Given the description of an element on the screen output the (x, y) to click on. 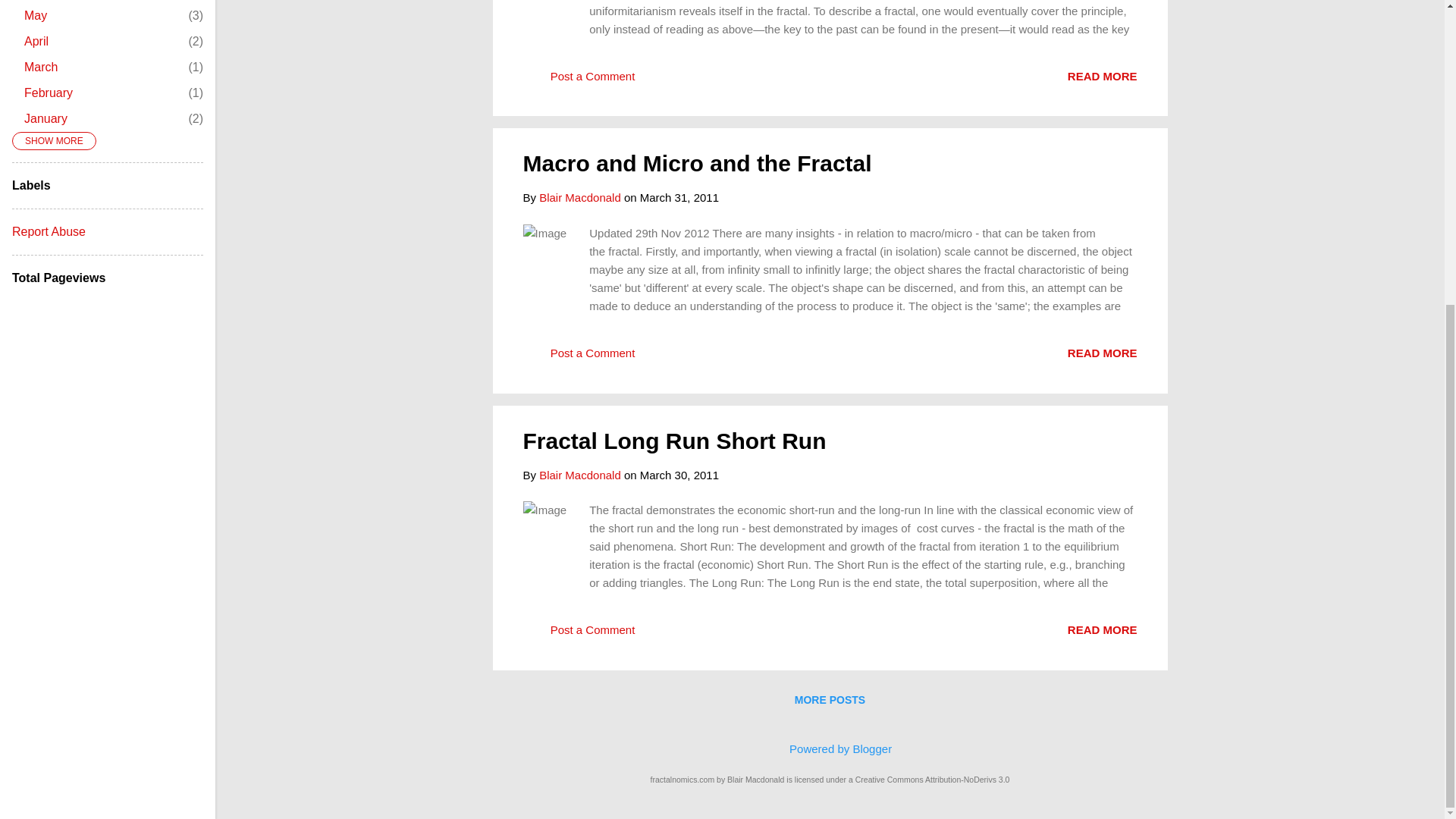
Powered by Blogger (829, 748)
Post a Comment (578, 358)
Blair Macdonald (579, 196)
March 31, 2011 (679, 196)
READ MORE (1102, 75)
author profile (579, 196)
Post a Comment (578, 80)
MORE POSTS (829, 699)
Macro and Micro and the Fractal (697, 163)
Uniformitarianism and the Fractal (1102, 75)
